Given the description of an element on the screen output the (x, y) to click on. 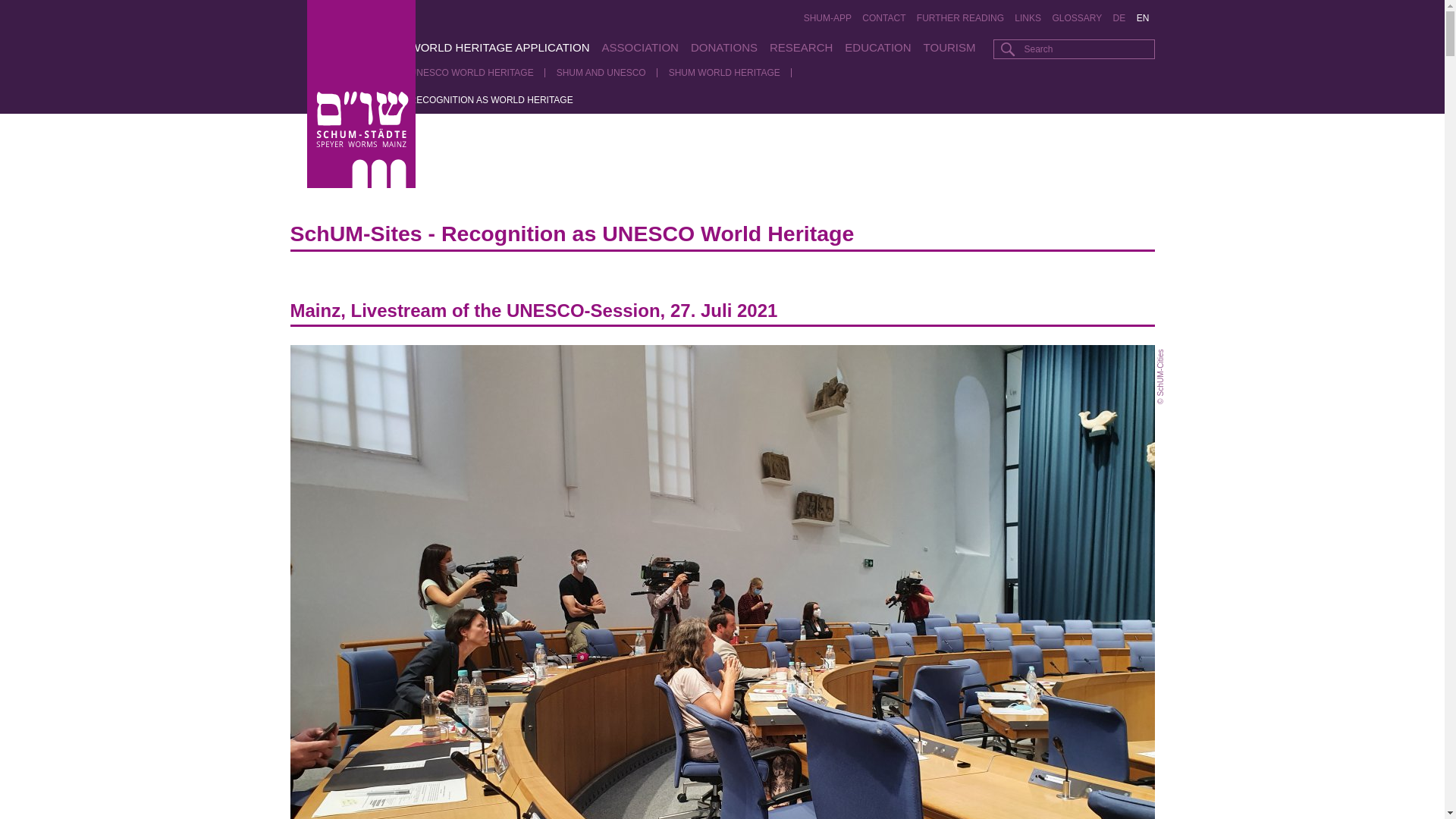
DONATIONS (723, 47)
CONTACT (884, 18)
GLOSSARY (1076, 18)
DE (1118, 18)
SHUM-APP (827, 18)
SHUM (380, 47)
FURTHER READING (960, 18)
EDUCATION (877, 47)
ASSOCIATION (640, 47)
Send (1006, 48)
